Given the description of an element on the screen output the (x, y) to click on. 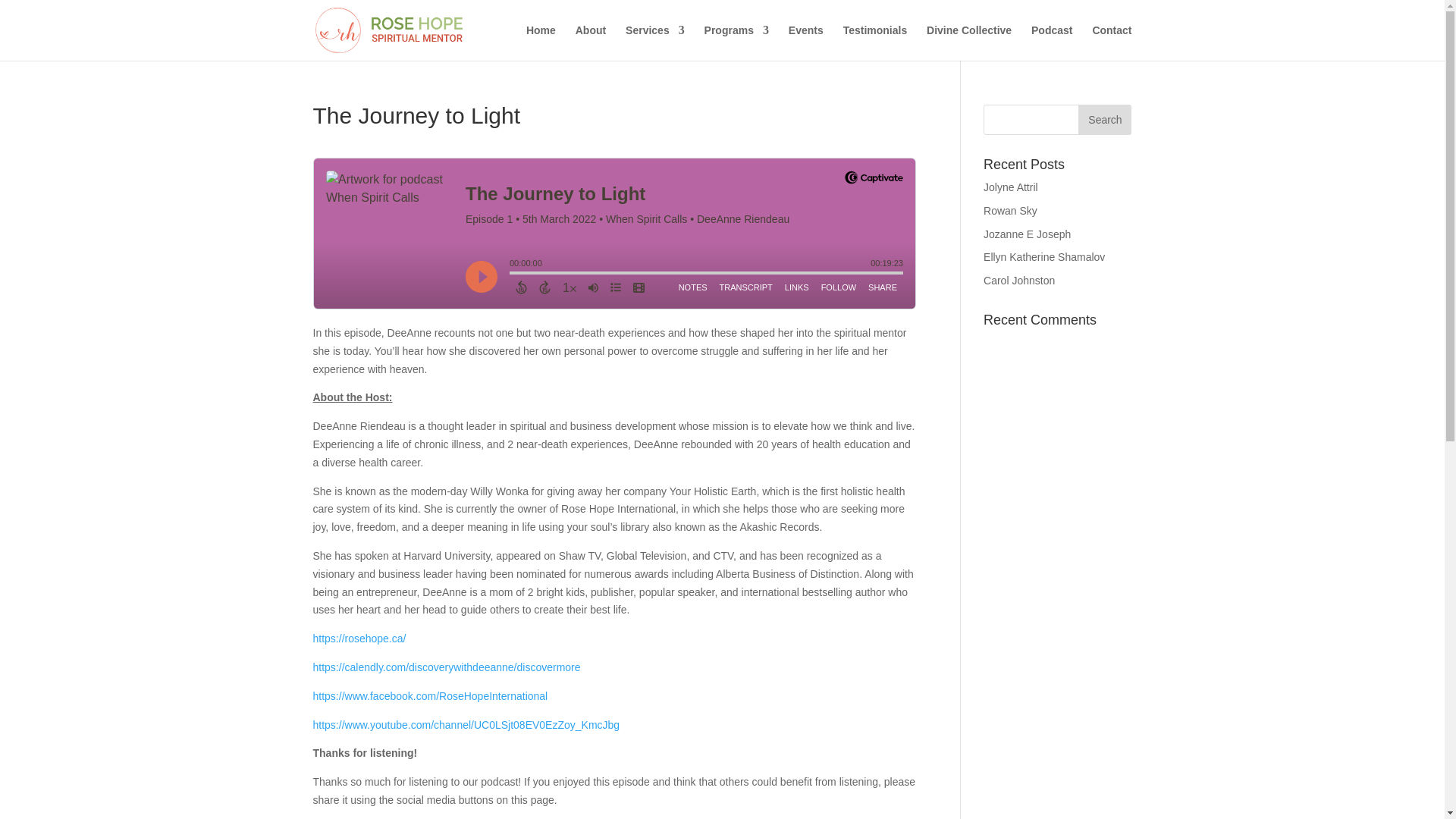
Services (655, 42)
Divine Collective (968, 42)
Testimonials (875, 42)
Podcast (1050, 42)
Search (1104, 119)
Events (806, 42)
Programs (736, 42)
Contact (1111, 42)
